Given the description of an element on the screen output the (x, y) to click on. 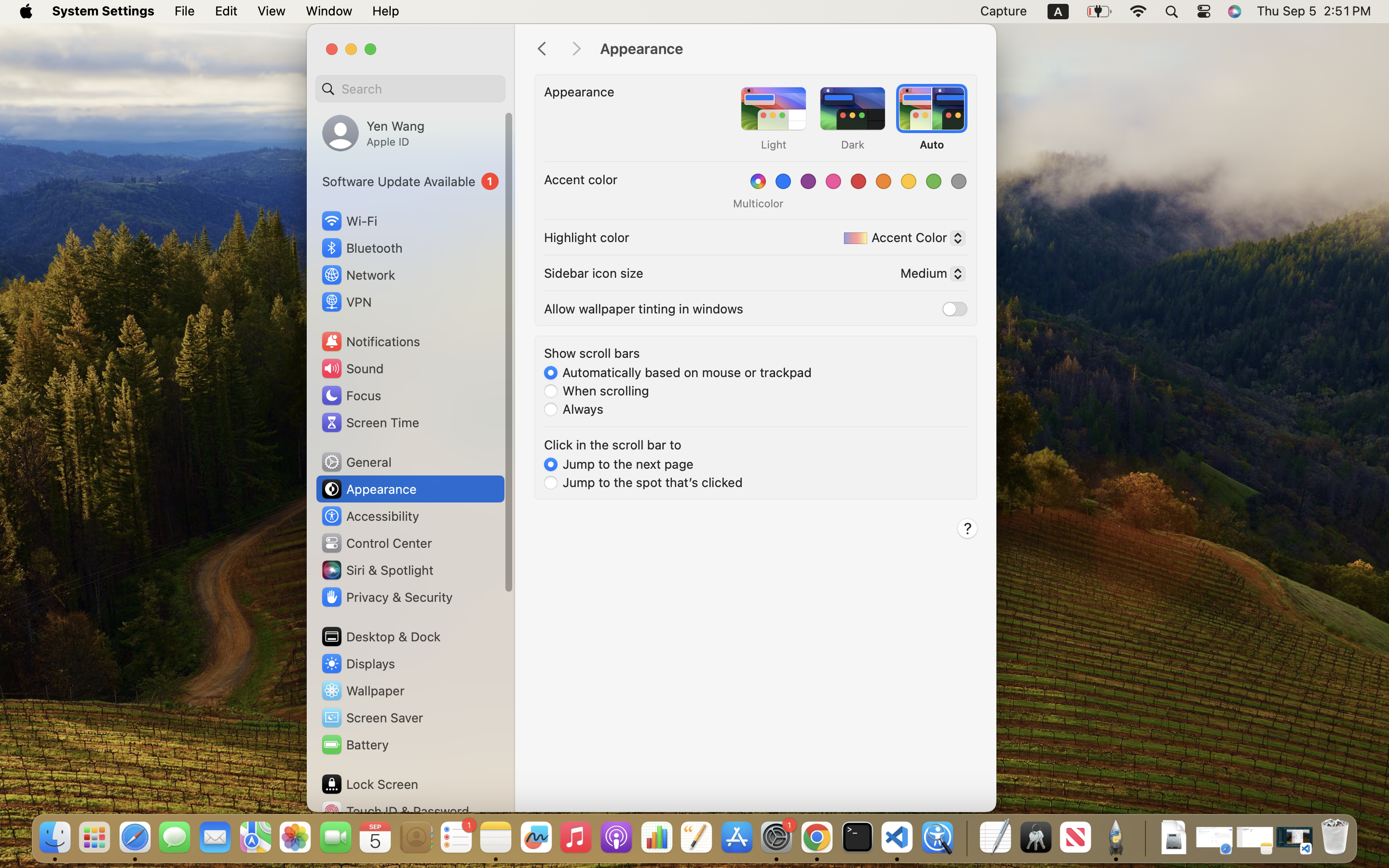
Displays Element type: AXStaticText (357, 663)
General Element type: AXStaticText (355, 461)
Highlight color Element type: AXStaticText (586, 236)
Lock Screen Element type: AXStaticText (369, 783)
Control Center Element type: AXStaticText (376, 542)
